Given the description of an element on the screen output the (x, y) to click on. 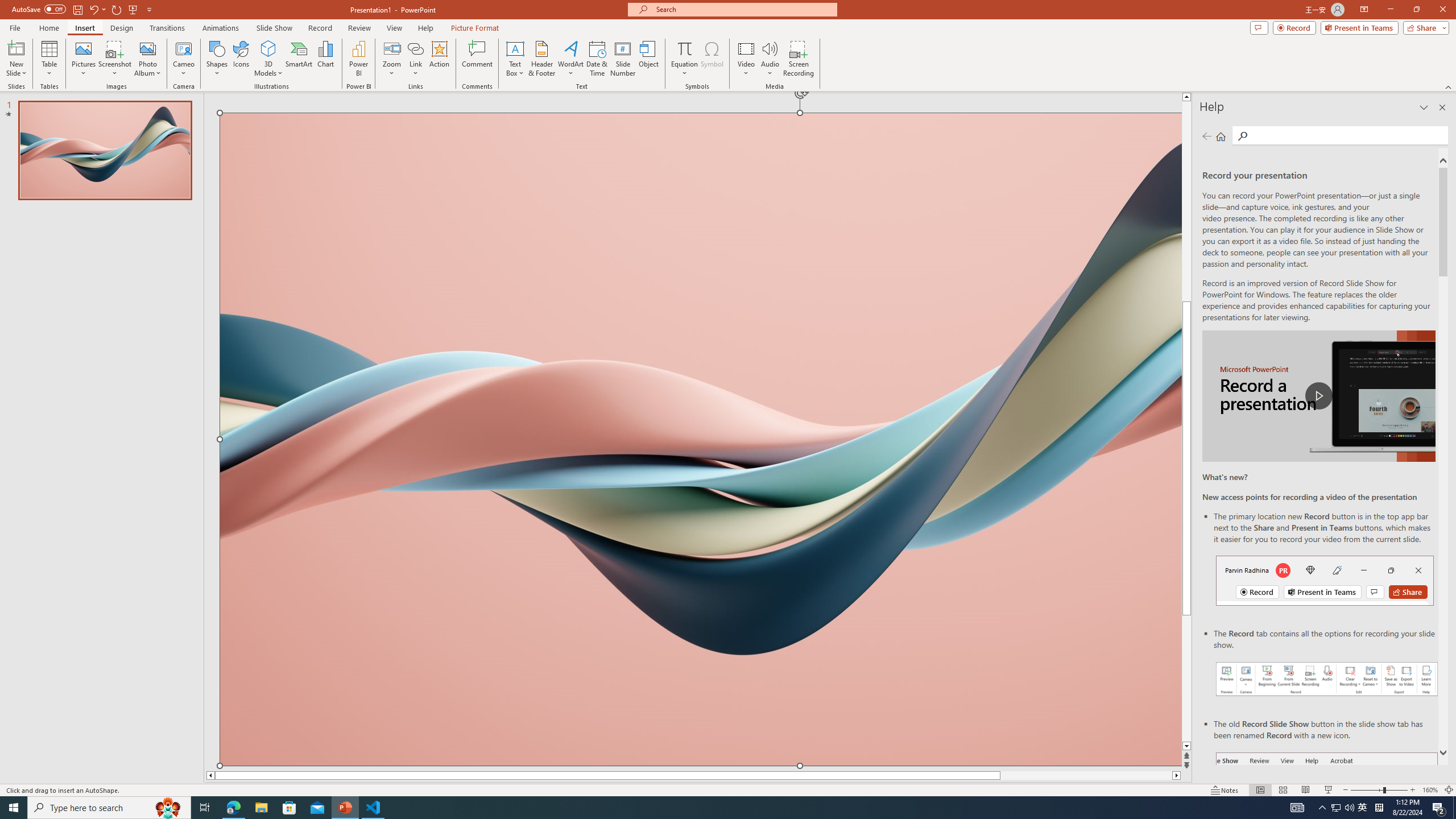
Action (439, 58)
New Photo Album... (147, 48)
Object... (649, 58)
3D Models (268, 58)
Wavy 3D art (700, 439)
Draw Horizontal Text Box (515, 48)
